Given the description of an element on the screen output the (x, y) to click on. 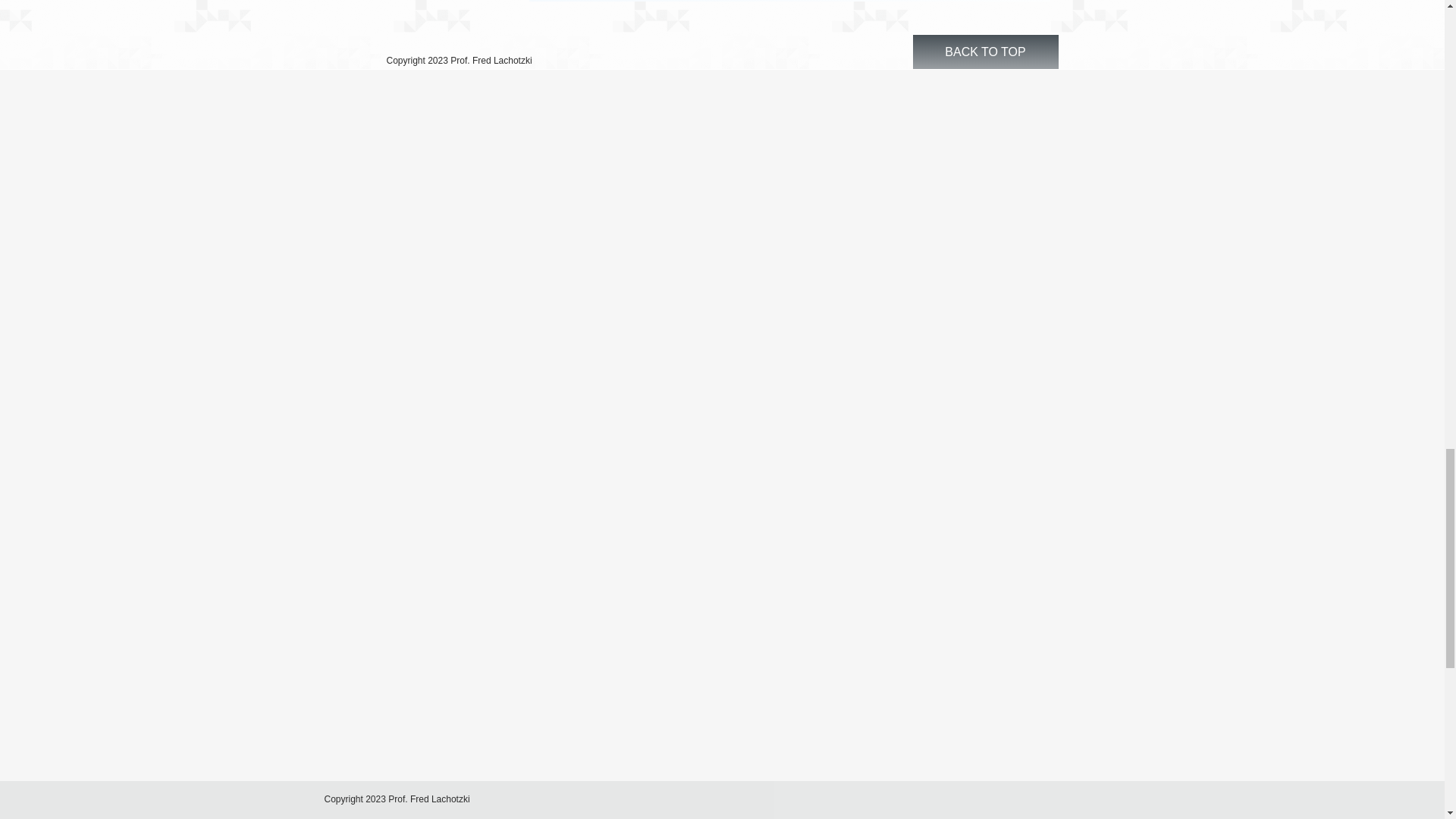
BACK TO TOP (985, 51)
